Given the description of an element on the screen output the (x, y) to click on. 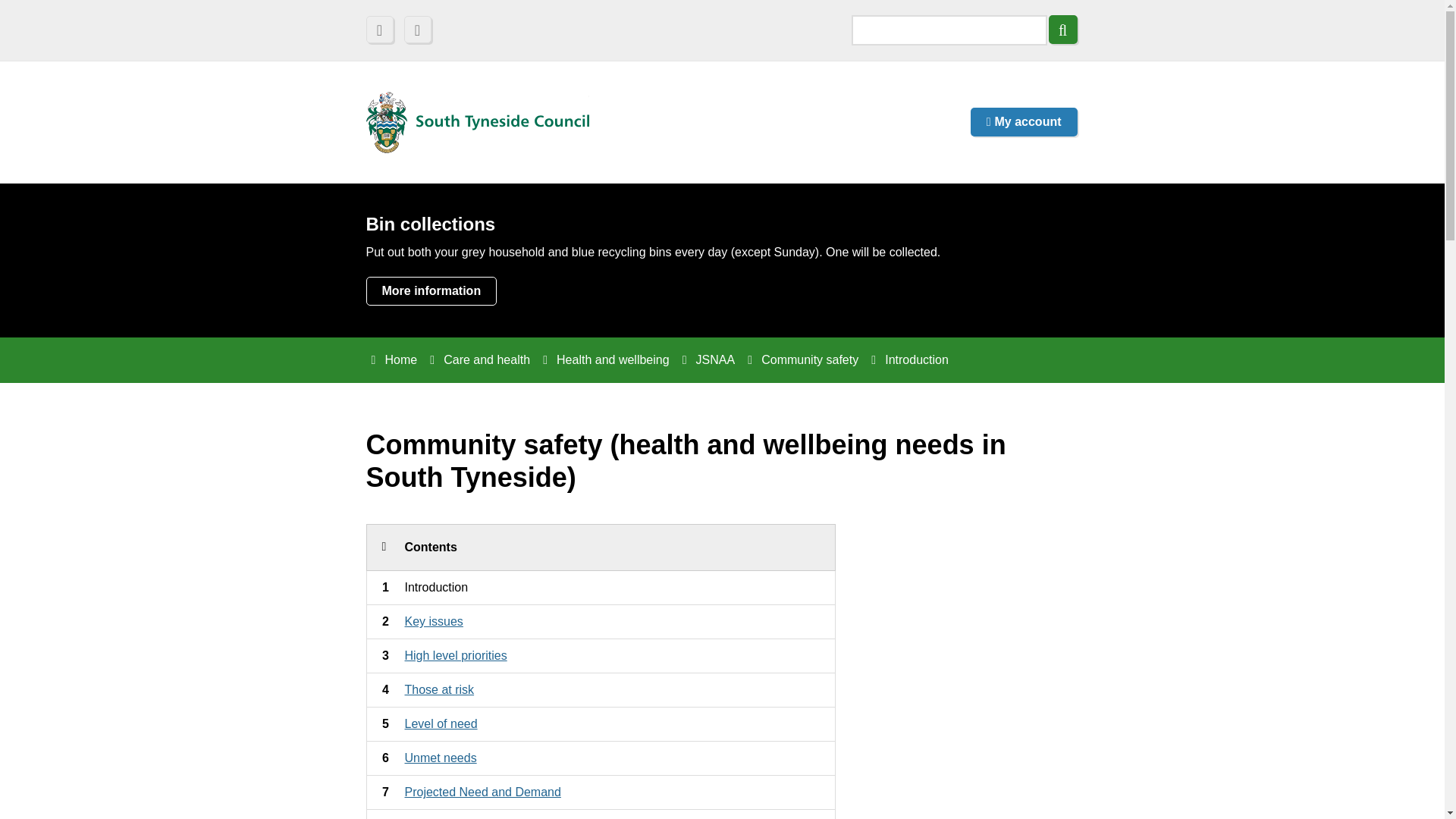
High level priorities (455, 655)
Key issues (433, 621)
Level of need (430, 290)
Projected Need and Demand (440, 723)
Unmet needs (482, 791)
Dark mode (440, 757)
Search this website (418, 30)
Home (1062, 29)
